Given the description of an element on the screen output the (x, y) to click on. 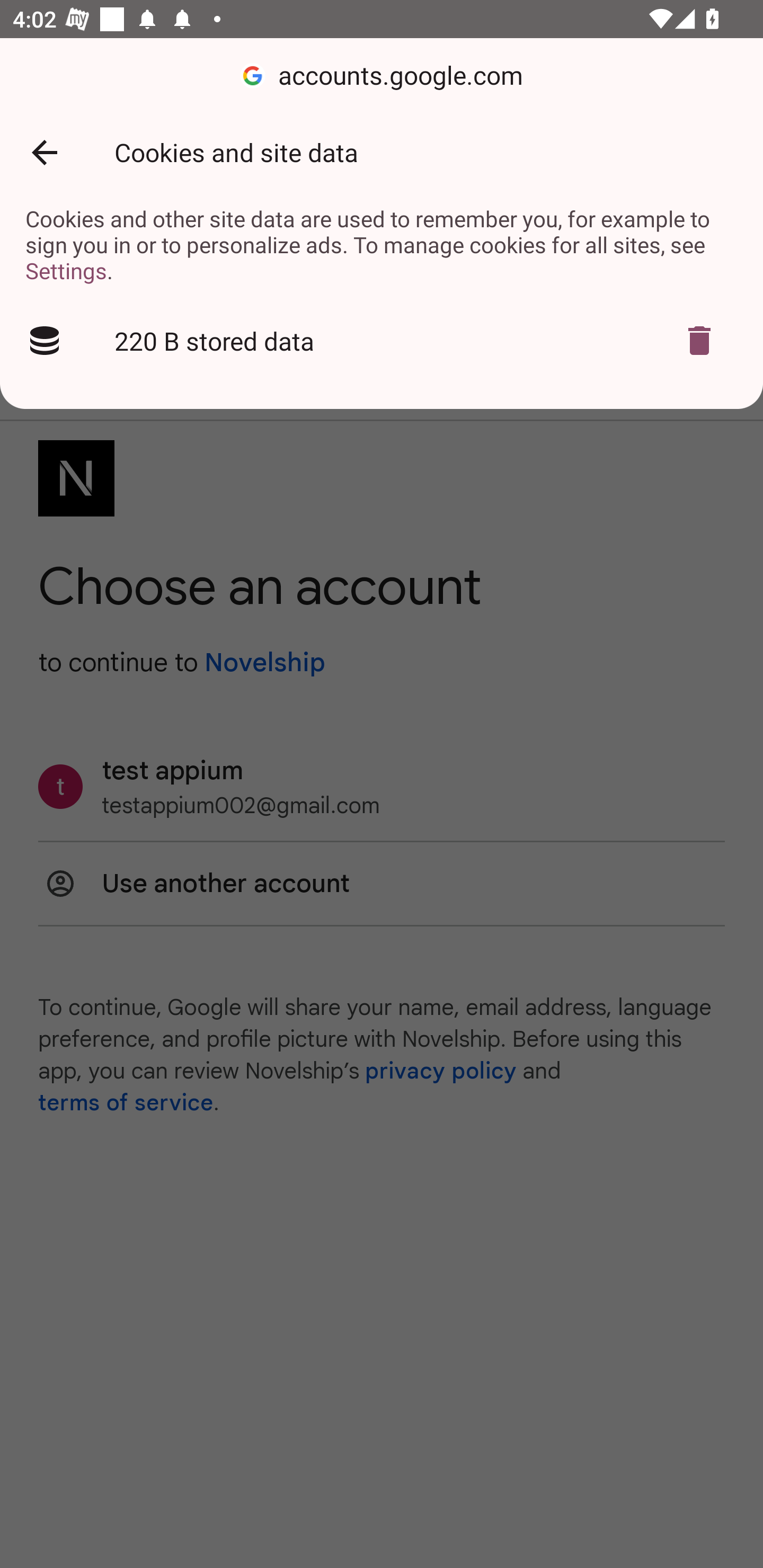
accounts.google.com (381, 75)
Back (44, 152)
220 B stored data Delete cookies? (381, 340)
